Given the description of an element on the screen output the (x, y) to click on. 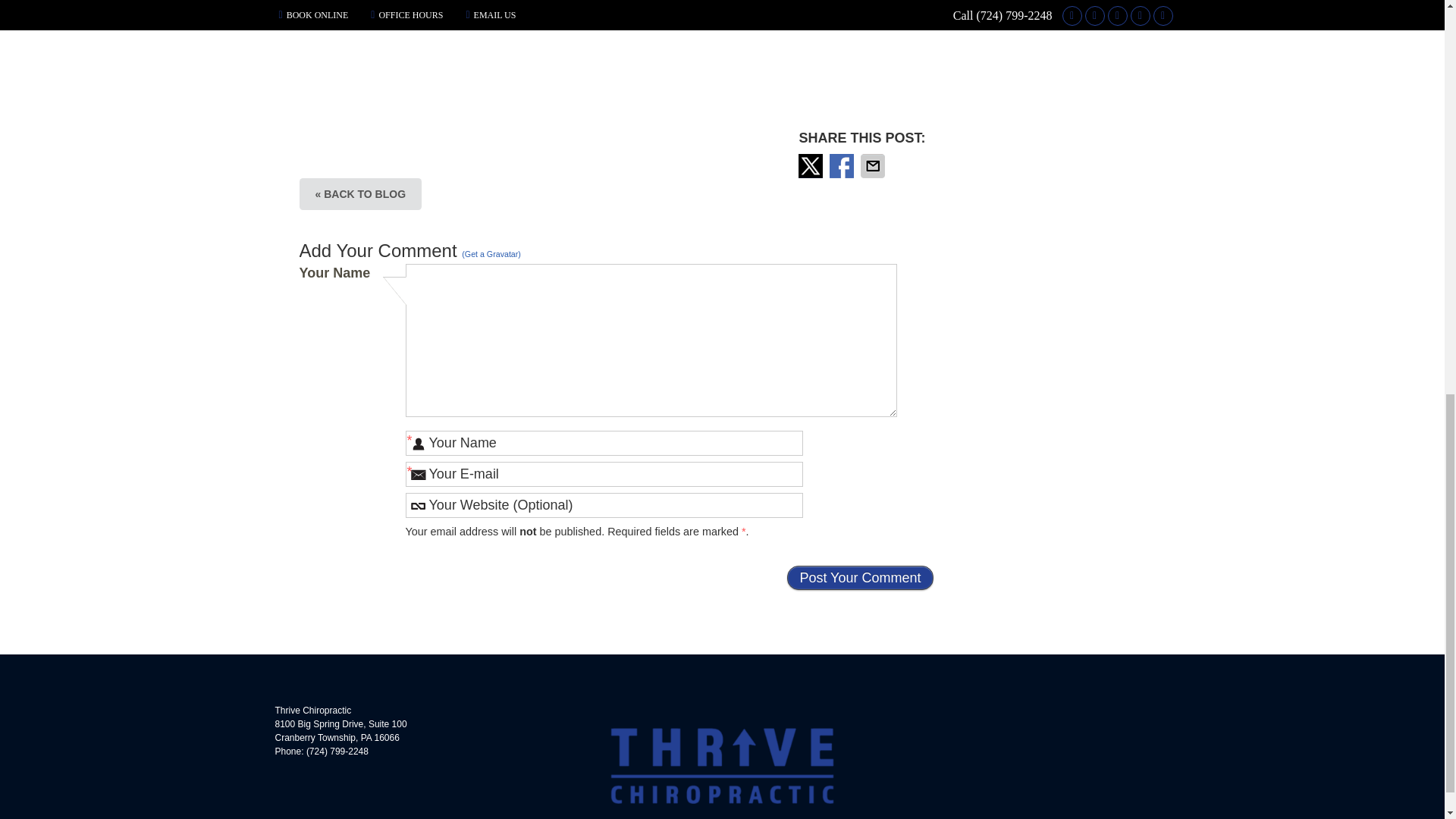
The Importance of  (615, 58)
Post Your Comment (860, 577)
Your E-mail (603, 473)
Your Name (603, 442)
Your Name (603, 442)
Your E-mail (603, 473)
